Given the description of an element on the screen output the (x, y) to click on. 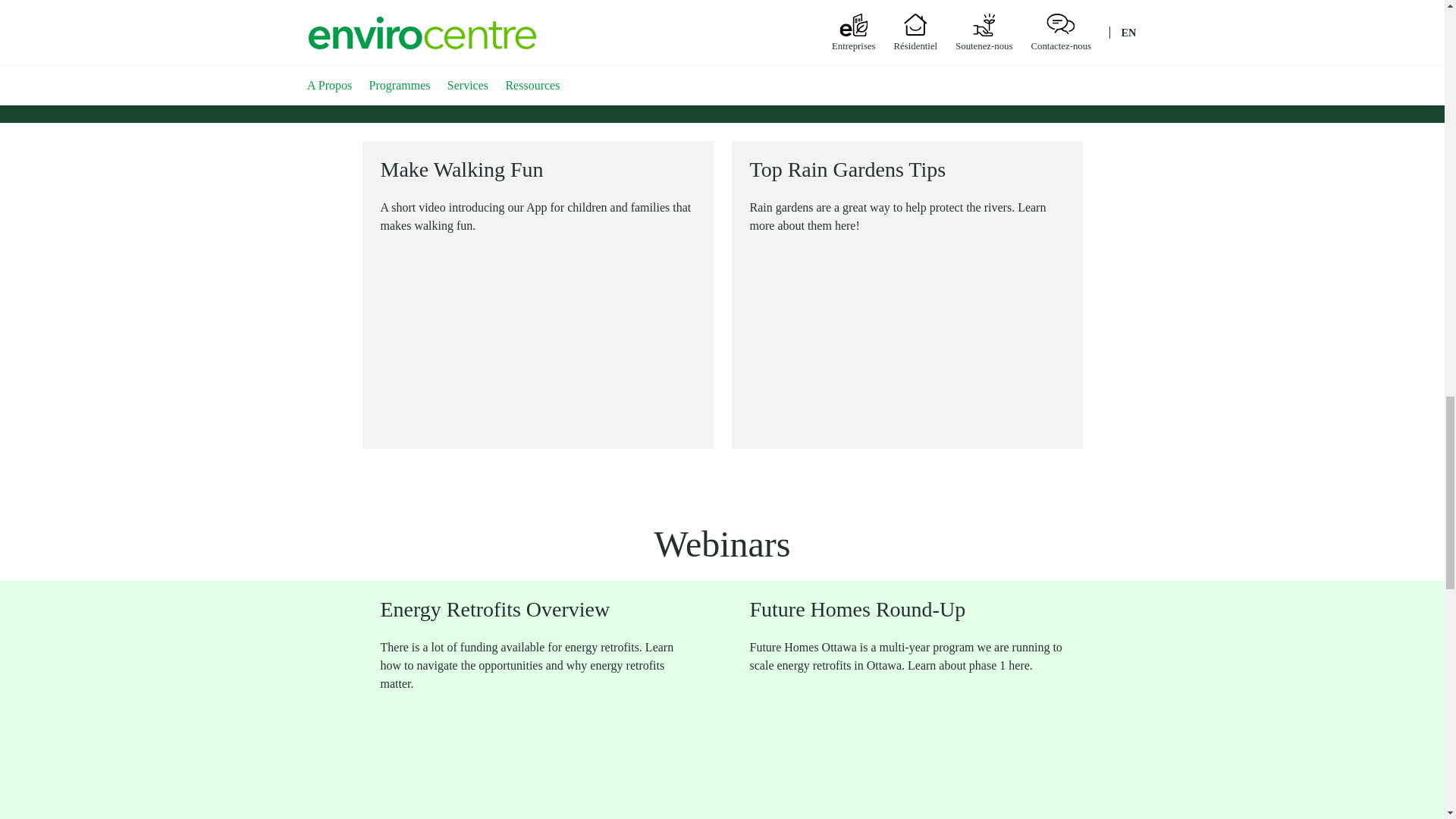
Neighbourhood Retrofit Round-Up (906, 755)
Hop! The App That Makes Walking to School Fun! (537, 341)
Top 10 things to know about rain gardens! (906, 341)
